Given the description of an element on the screen output the (x, y) to click on. 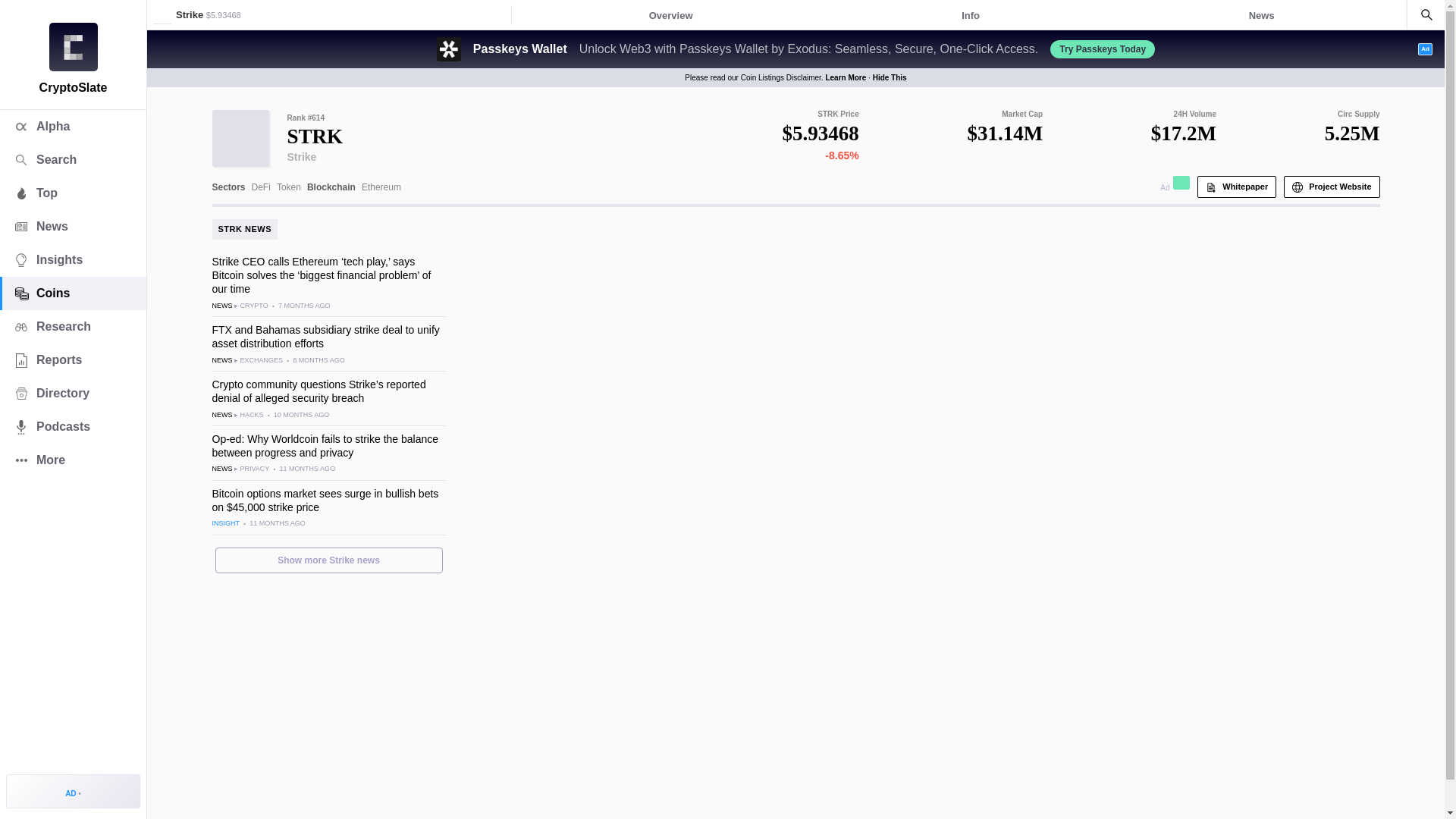
News (1262, 15)
Top (73, 192)
Coins (73, 293)
News (73, 226)
Podcasts (73, 426)
Directory (73, 393)
Alpha (73, 126)
Reports (73, 359)
Research (73, 326)
Insights (73, 259)
